Given the description of an element on the screen output the (x, y) to click on. 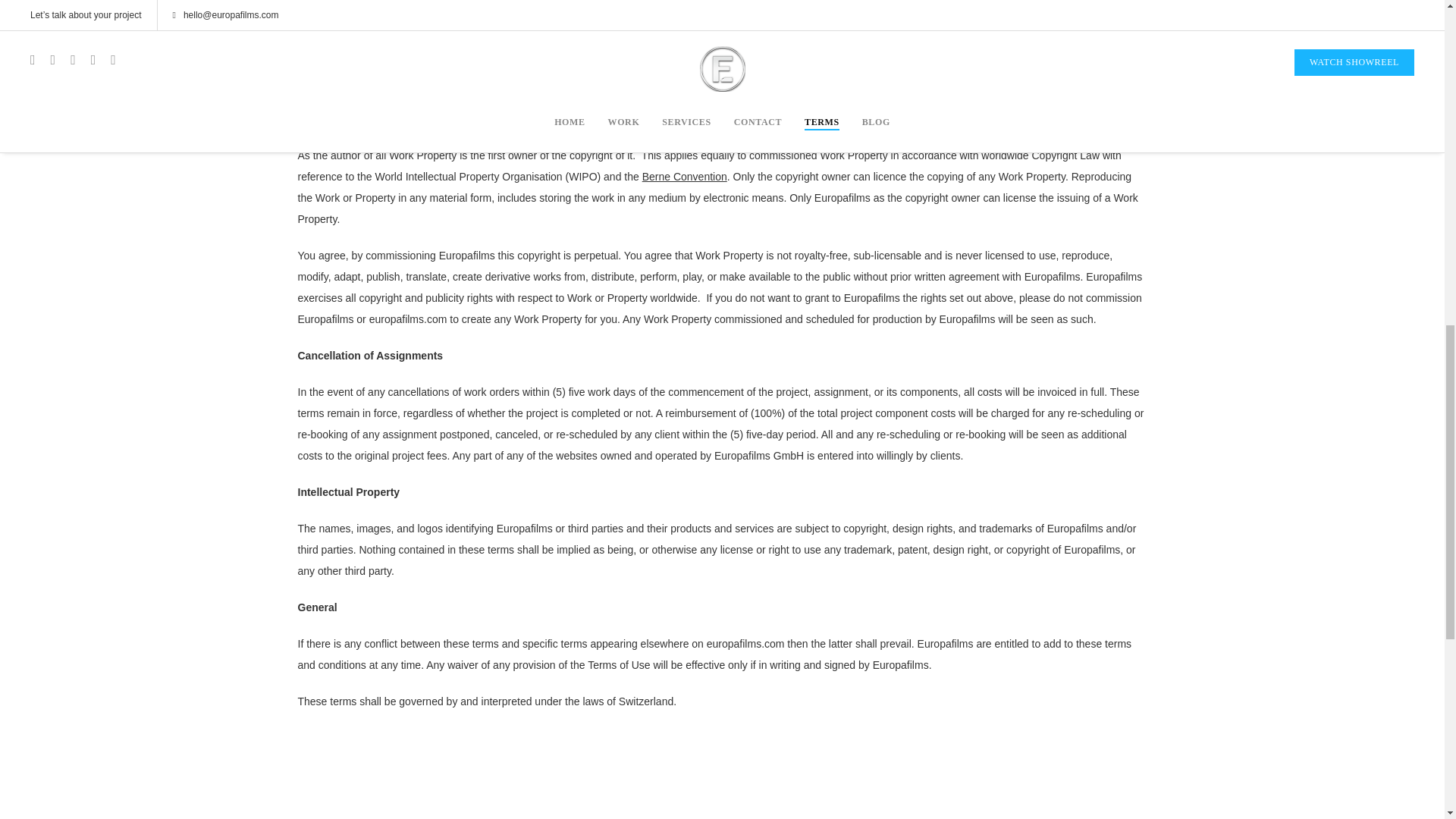
Berne Convention (684, 175)
